Given the description of an element on the screen output the (x, y) to click on. 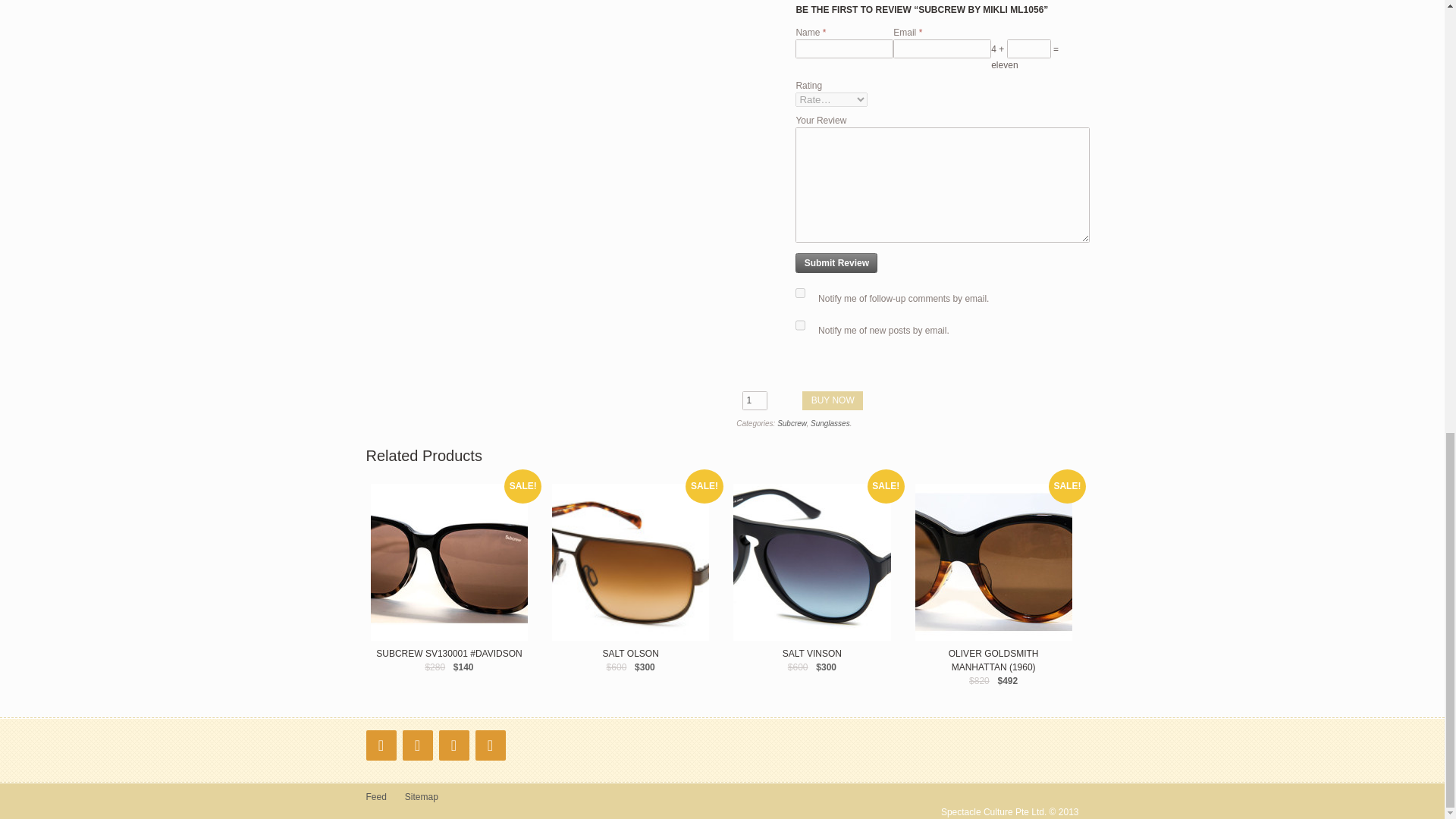
1 (754, 401)
Qty (754, 401)
Facebook (380, 745)
Instagram (416, 745)
RSS (453, 745)
Submit Review (835, 262)
